Given the description of an element on the screen output the (x, y) to click on. 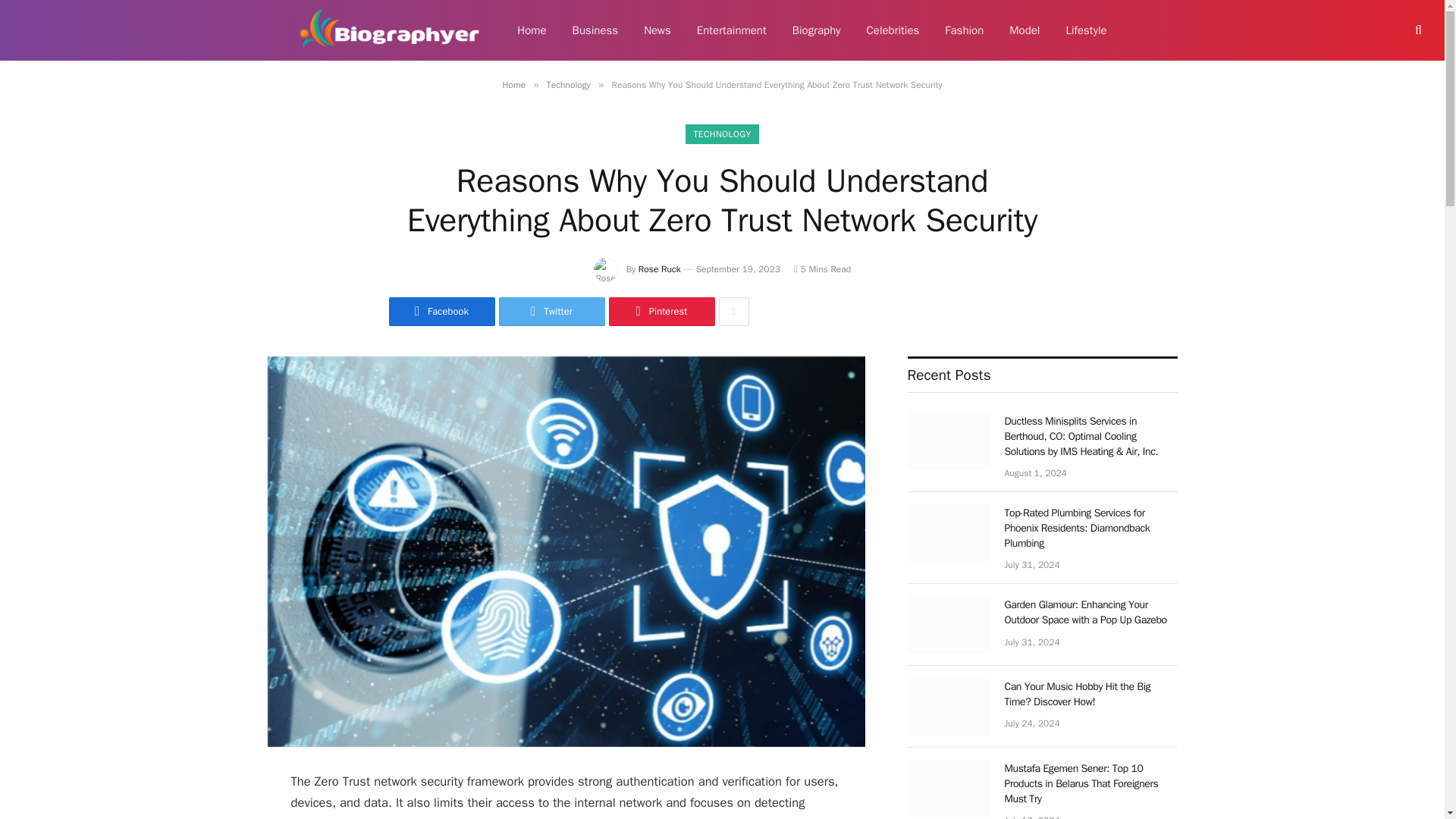
Biographyer (389, 29)
Biography (815, 30)
Facebook (441, 311)
Technology (569, 84)
Rose Ruck (660, 268)
Home (531, 30)
Entertainment (731, 30)
TECHNOLOGY (721, 134)
Pinterest (661, 311)
Share on Pinterest (661, 311)
